Given the description of an element on the screen output the (x, y) to click on. 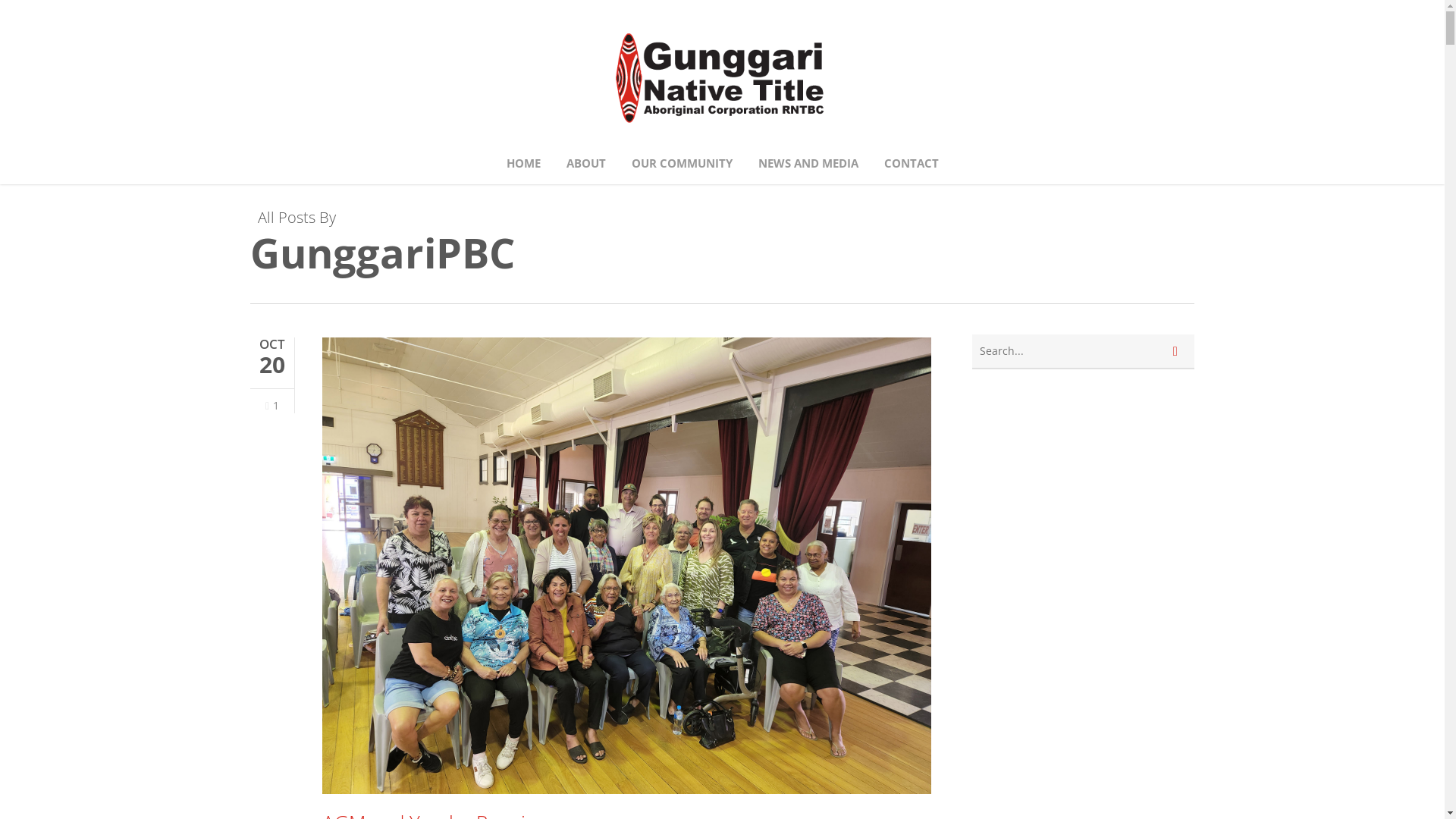
OUR COMMUNITY Element type: text (680, 163)
NEWS AND MEDIA Element type: text (808, 163)
ABOUT Element type: text (585, 163)
1 Element type: text (272, 405)
CONTACT Element type: text (911, 163)
Search for: Element type: hover (1083, 351)
HOME Element type: text (523, 163)
